Given the description of an element on the screen output the (x, y) to click on. 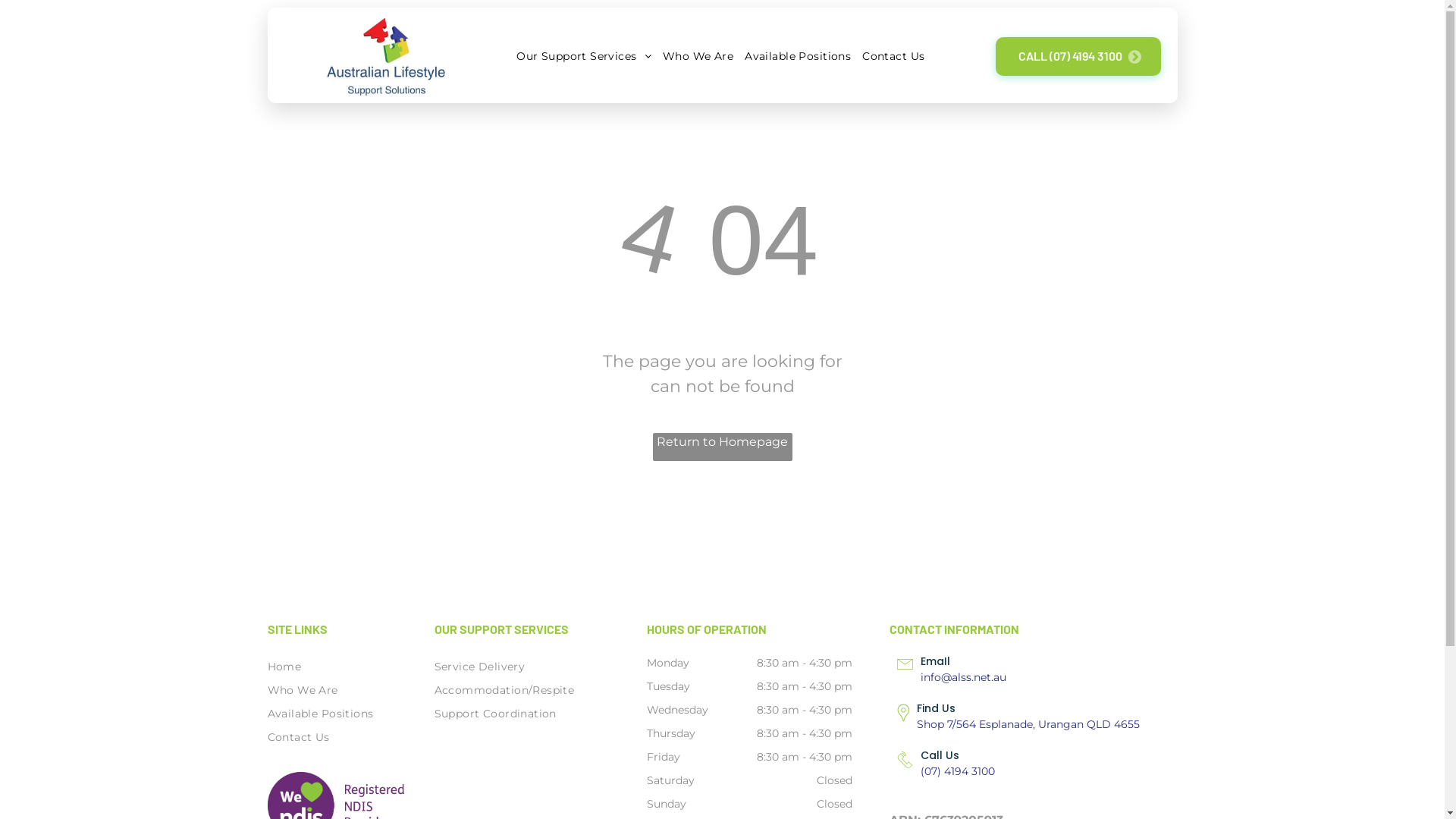
Contact Us Element type: text (321, 737)
Available Positions Element type: text (795, 56)
Support Coordination Element type: text (528, 713)
(07) 4194 3100 Element type: text (957, 771)
Service Delivery Element type: text (528, 666)
Home Element type: text (321, 666)
Accommodation/Respite Element type: text (528, 690)
Available Positions Element type: text (321, 713)
Our Support Services Element type: text (581, 56)
info@alss.net.au Element type: text (963, 677)
Contact Us Element type: text (891, 56)
CALL (07) 4194 3100 Element type: text (1078, 56)
Return to Homepage Element type: text (721, 447)
Shop 7/564 Esplanade, Urangan QLD 4655 Element type: text (1027, 724)
Who We Are Element type: text (321, 690)
Who We Are Element type: text (696, 56)
